Given the description of an element on the screen output the (x, y) to click on. 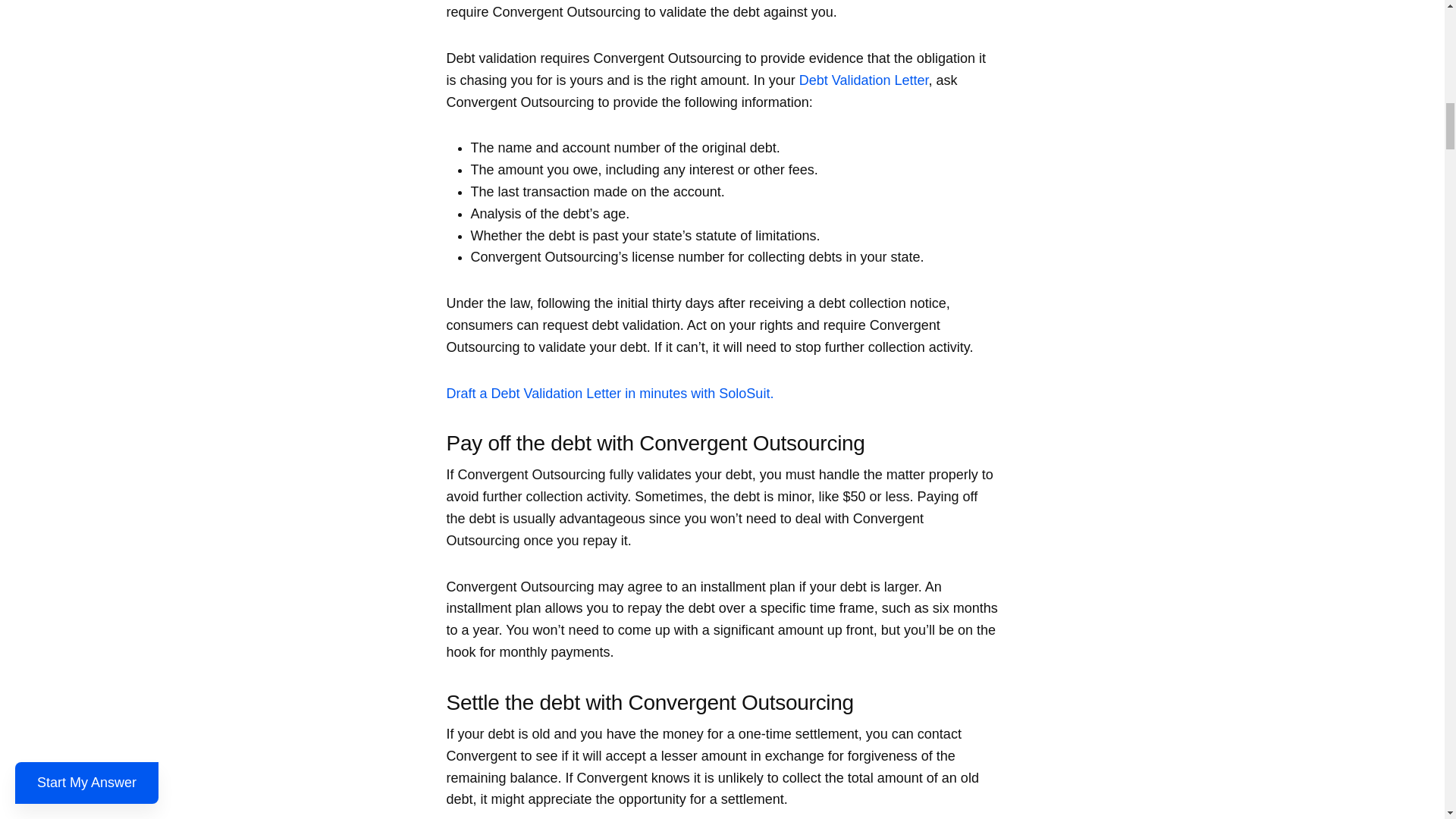
Debt Validation Letter (863, 79)
Draft a Debt Validation Letter in minutes with SoloSuit. (609, 392)
